Given the description of an element on the screen output the (x, y) to click on. 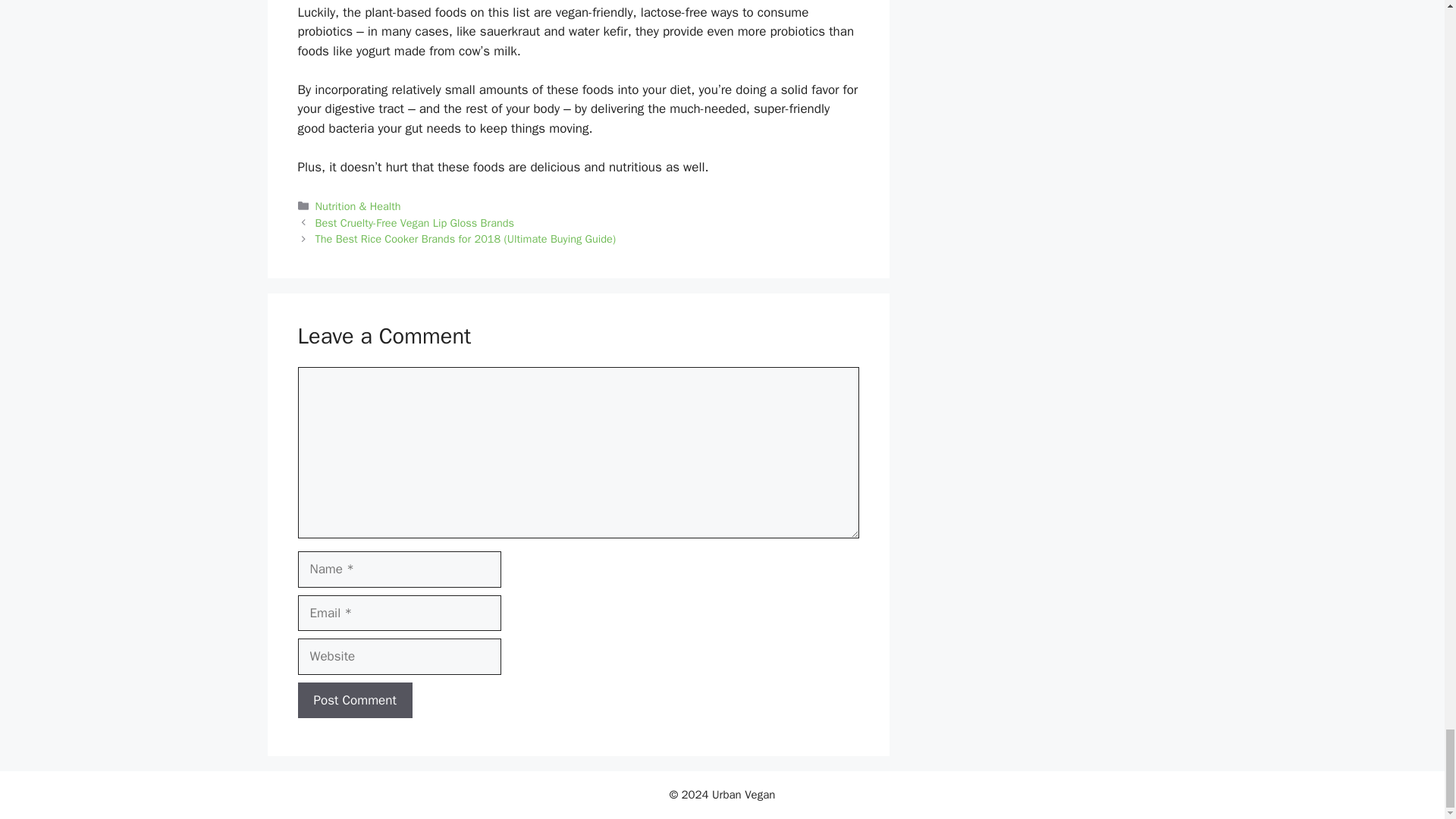
Post Comment (354, 700)
Best Cruelty-Free Vegan Lip Gloss Brands (414, 223)
